Given the description of an element on the screen output the (x, y) to click on. 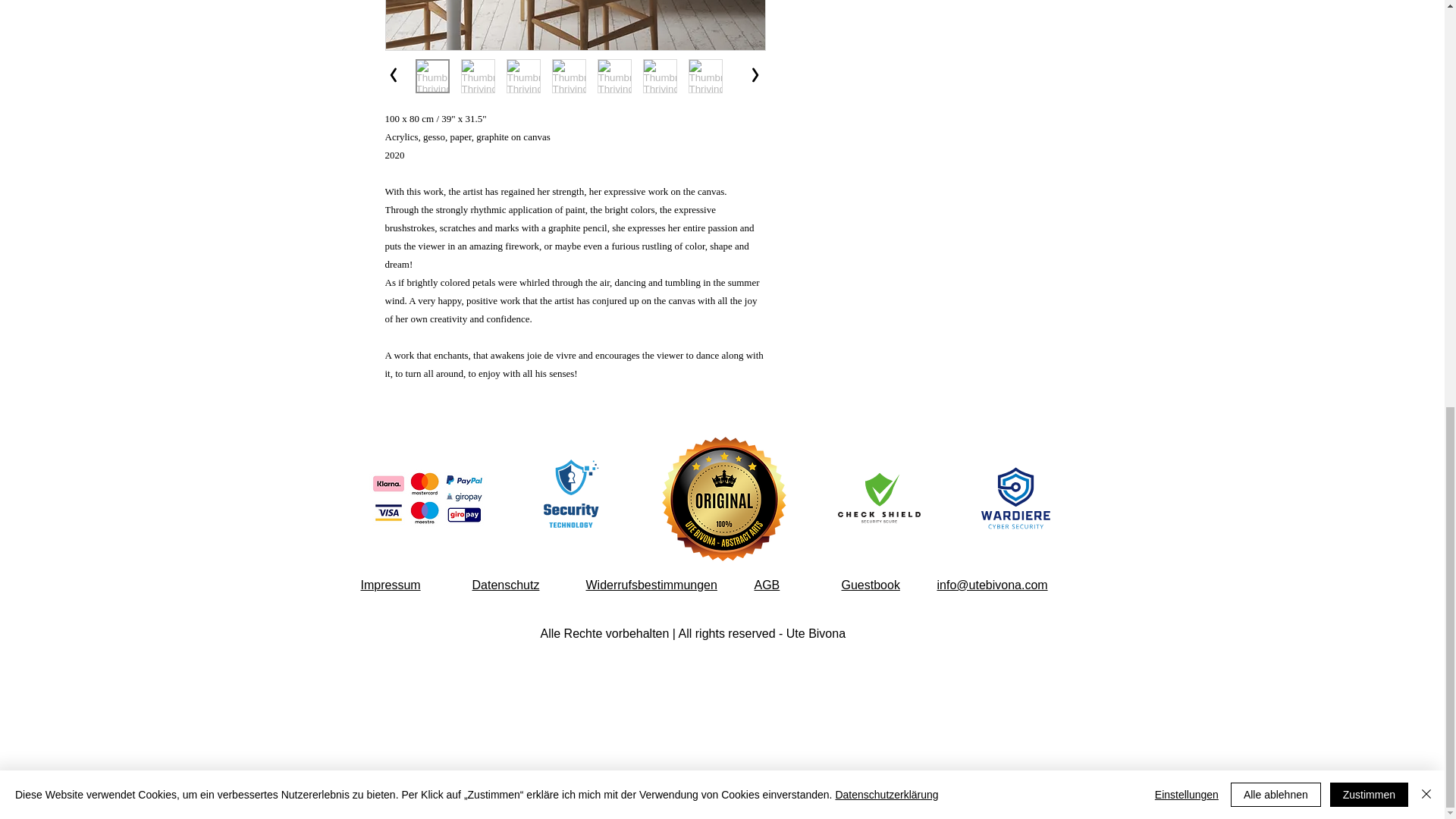
Premium round gold blacg locket.png (723, 498)
Widerrufsbestimmungen (650, 584)
Impressum (390, 584)
Datenschutz (504, 584)
